Given the description of an element on the screen output the (x, y) to click on. 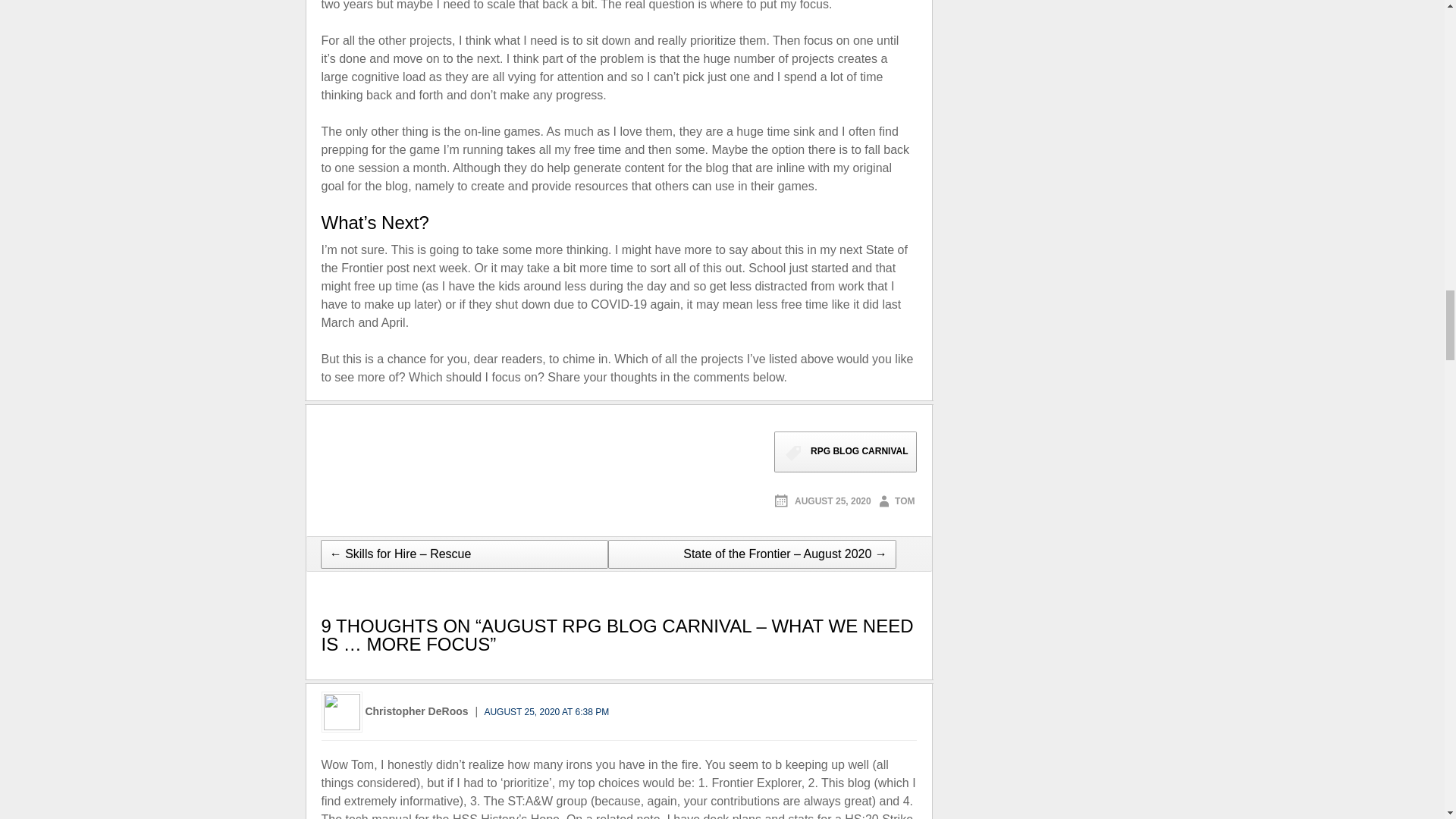
AUGUST 25, 2020 (822, 501)
AUGUST 25, 2020 AT 6:38 PM (545, 711)
RPG BLOG CARNIVAL (844, 451)
TOM (893, 501)
August 25, 2020 (822, 501)
Tom (893, 499)
